Given the description of an element on the screen output the (x, y) to click on. 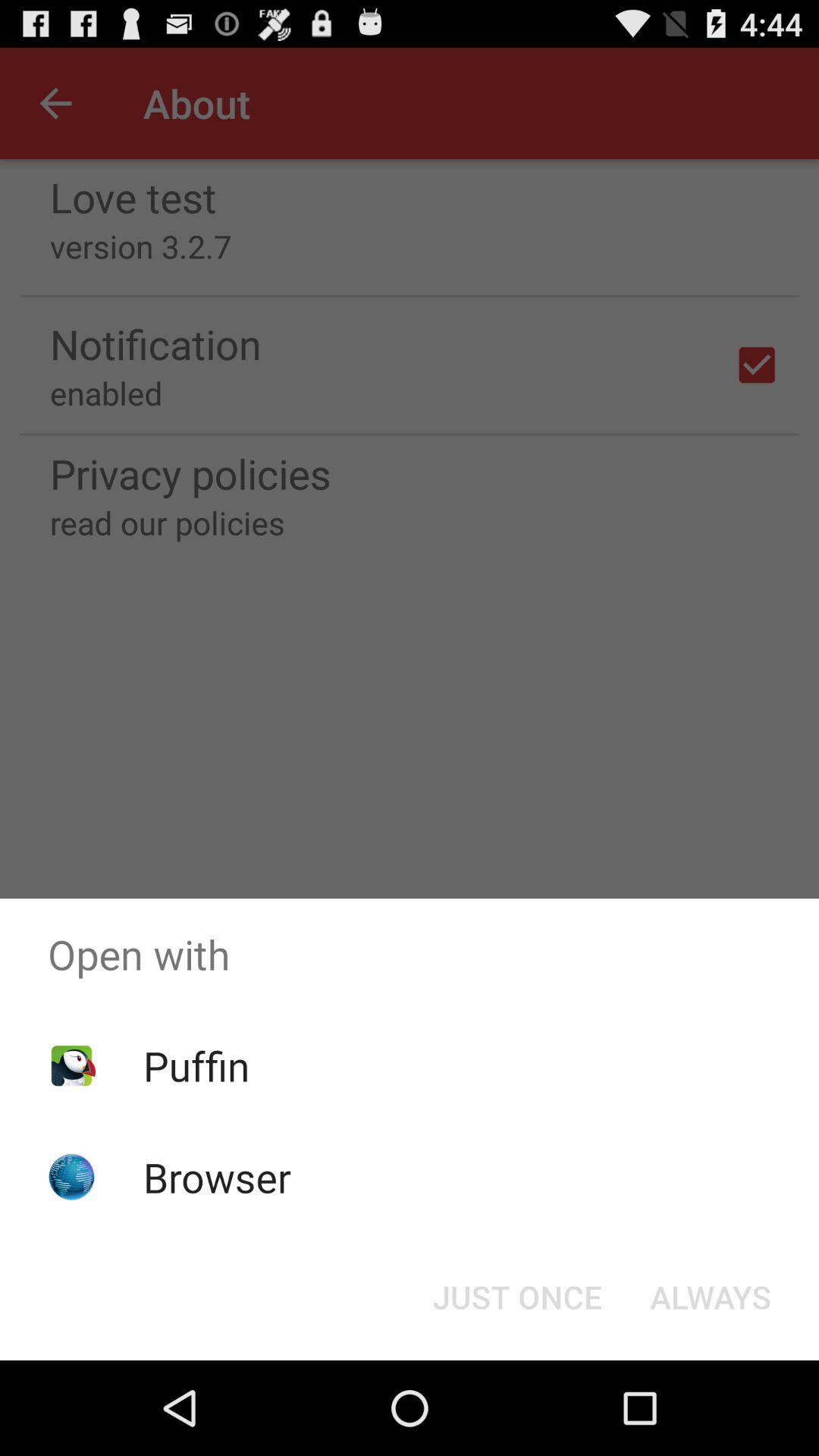
choose the item below puffin icon (217, 1176)
